Given the description of an element on the screen output the (x, y) to click on. 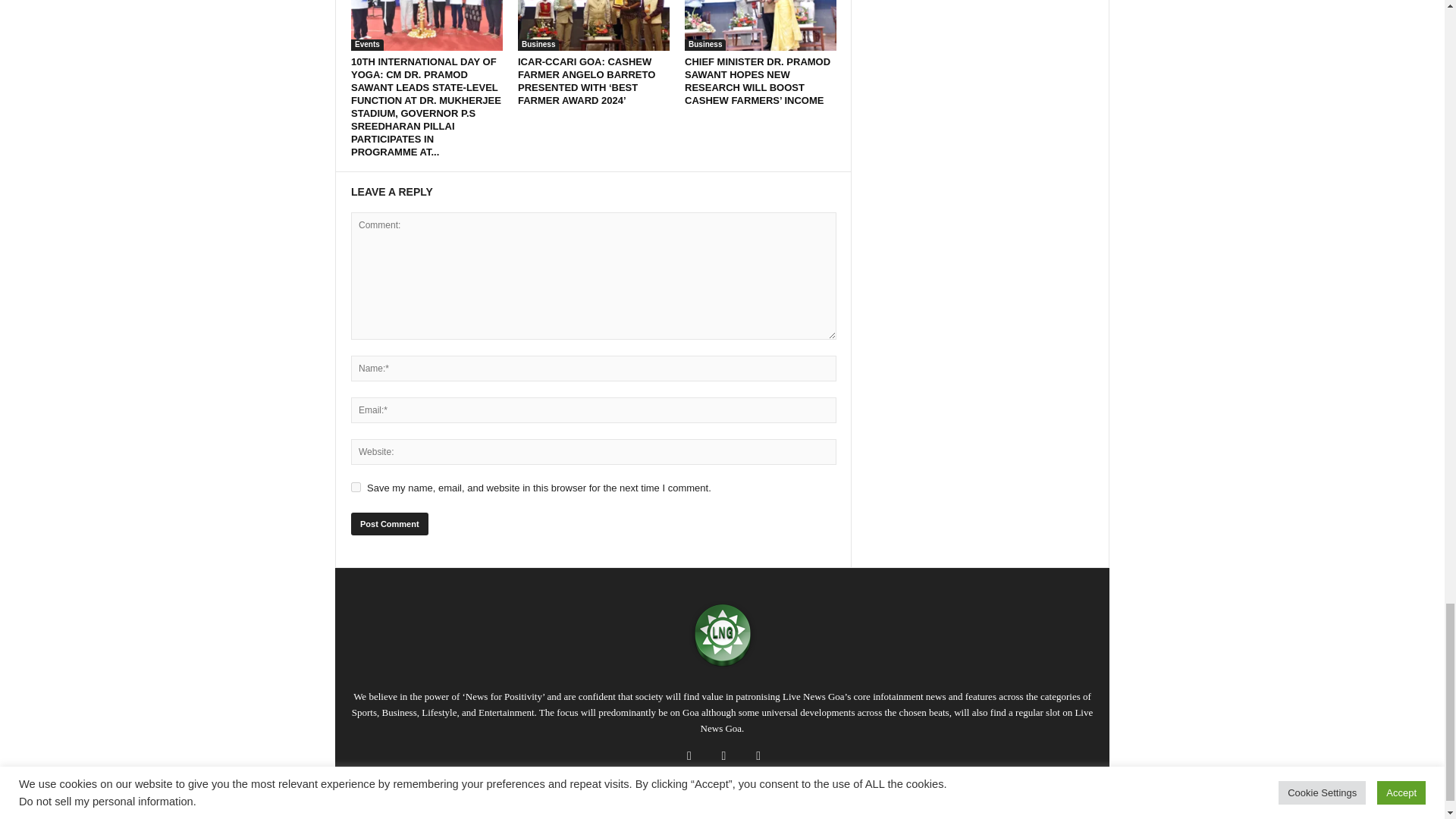
Post Comment (389, 523)
yes (355, 487)
